Given the description of an element on the screen output the (x, y) to click on. 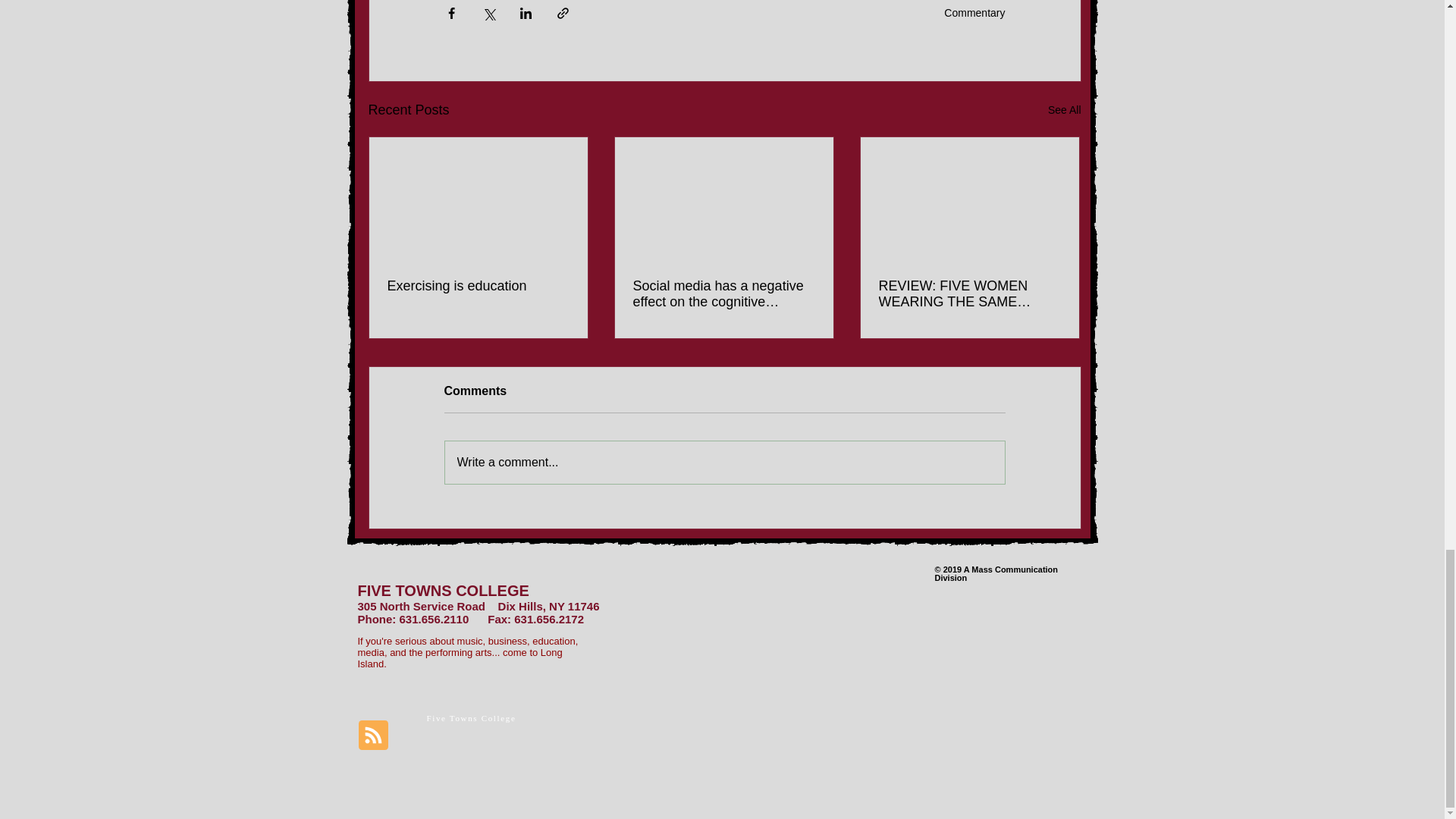
REVIEW: FIVE WOMEN WEARING THE SAME DRESS (968, 294)
Write a comment... (724, 462)
Exercising is education (478, 286)
Commentary (973, 12)
See All (1064, 110)
